Given the description of an element on the screen output the (x, y) to click on. 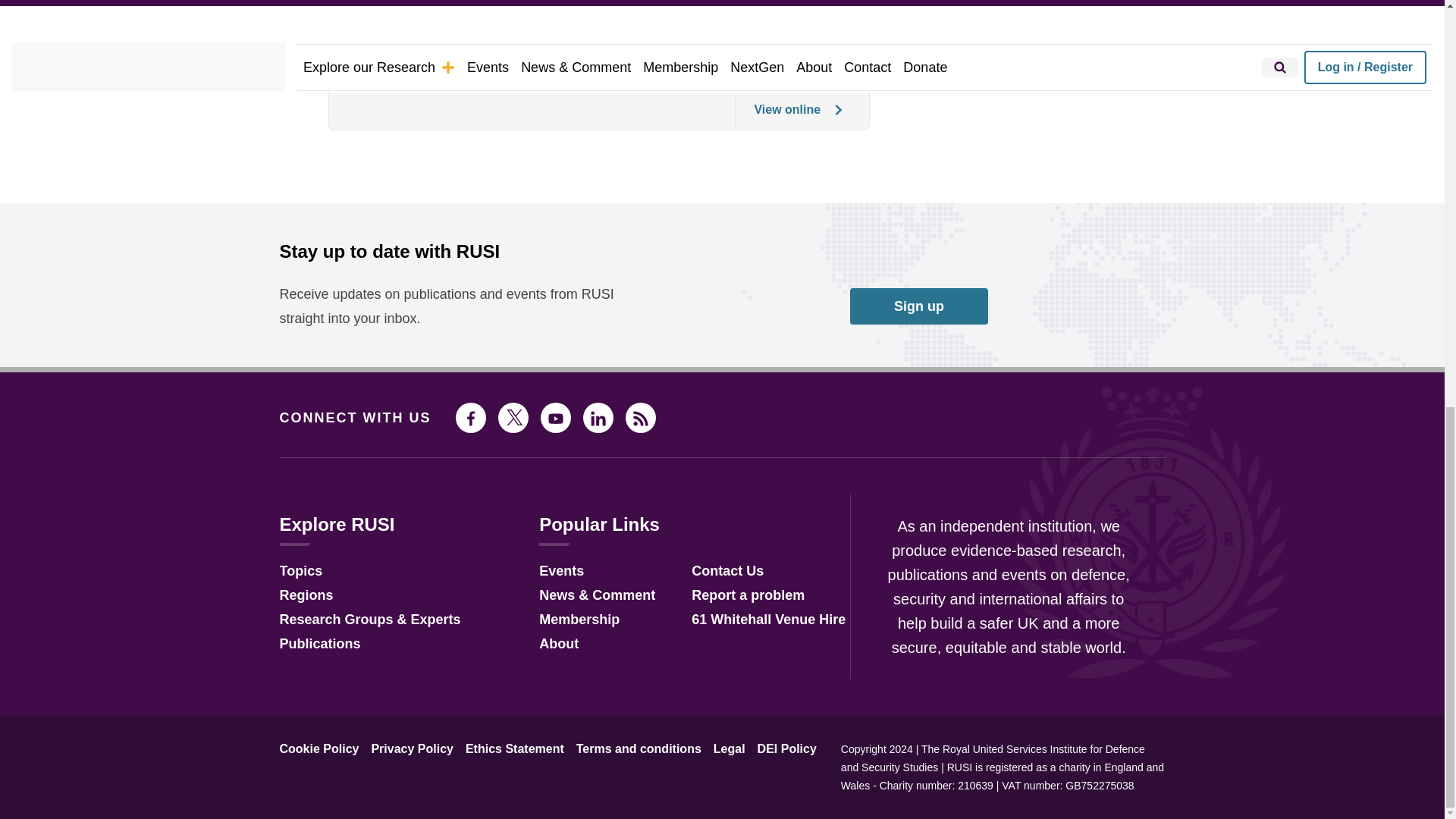
View online (789, 113)
Events (560, 571)
Membership (579, 620)
Publications (319, 644)
Regions (306, 596)
About (558, 644)
Sign up (919, 306)
Topics (300, 571)
